Given the description of an element on the screen output the (x, y) to click on. 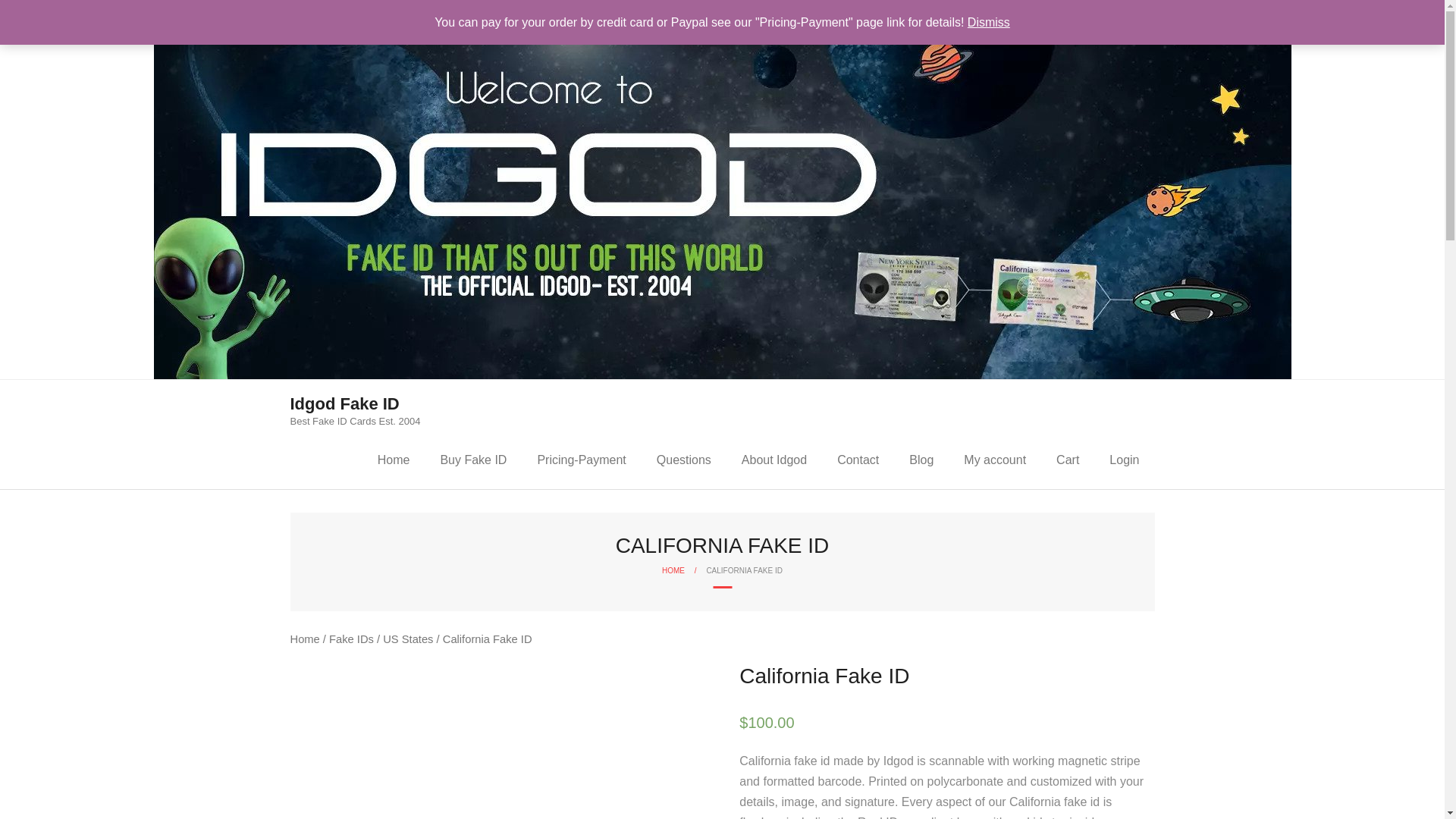
Cart (1067, 459)
About Idgod (774, 459)
US States (407, 639)
My account (995, 459)
Best Fake ID Cards Est. 2004 (354, 420)
Blog (921, 459)
Questions (684, 459)
Idgod Fake ID (354, 403)
HOME (673, 570)
Fake IDs (351, 639)
Contact (857, 459)
Login (354, 406)
Buy Fake ID (1124, 459)
Home (473, 459)
